Given the description of an element on the screen output the (x, y) to click on. 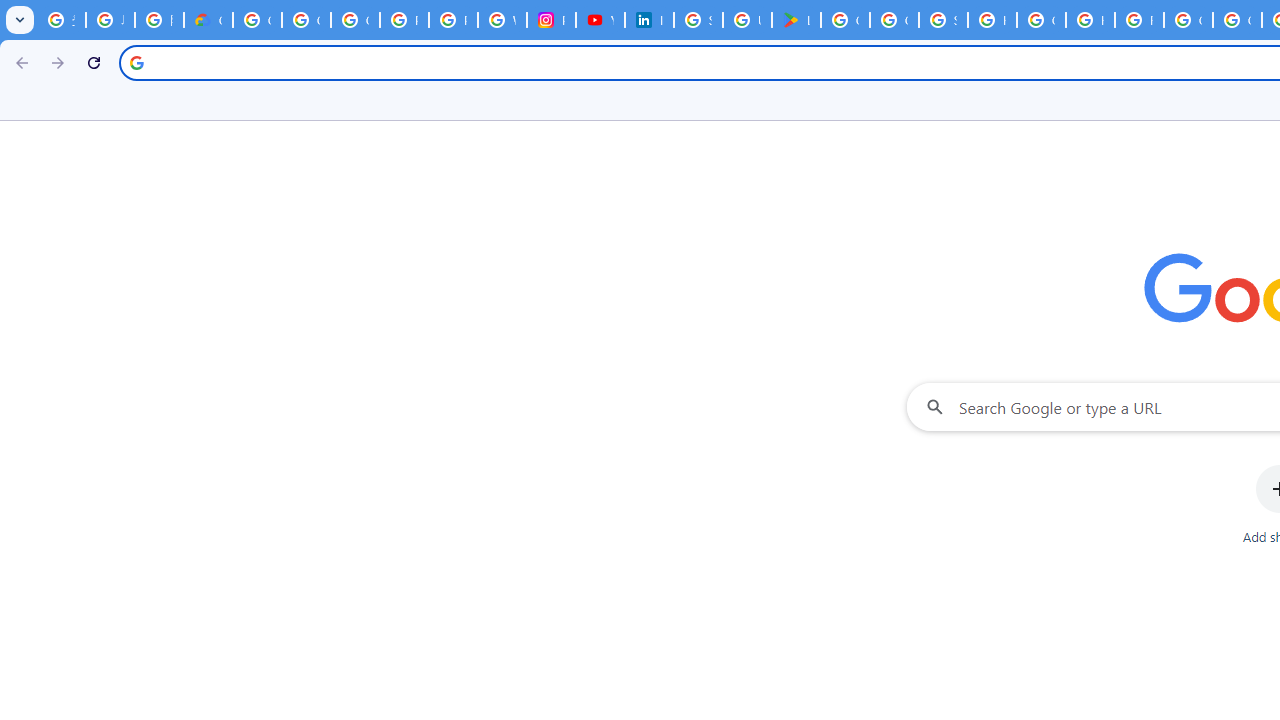
Google Workspace - Specific Terms (894, 20)
Privacy Help Center - Policies Help (452, 20)
How do I create a new Google Account? - Google Account Help (1090, 20)
